Given the description of an element on the screen output the (x, y) to click on. 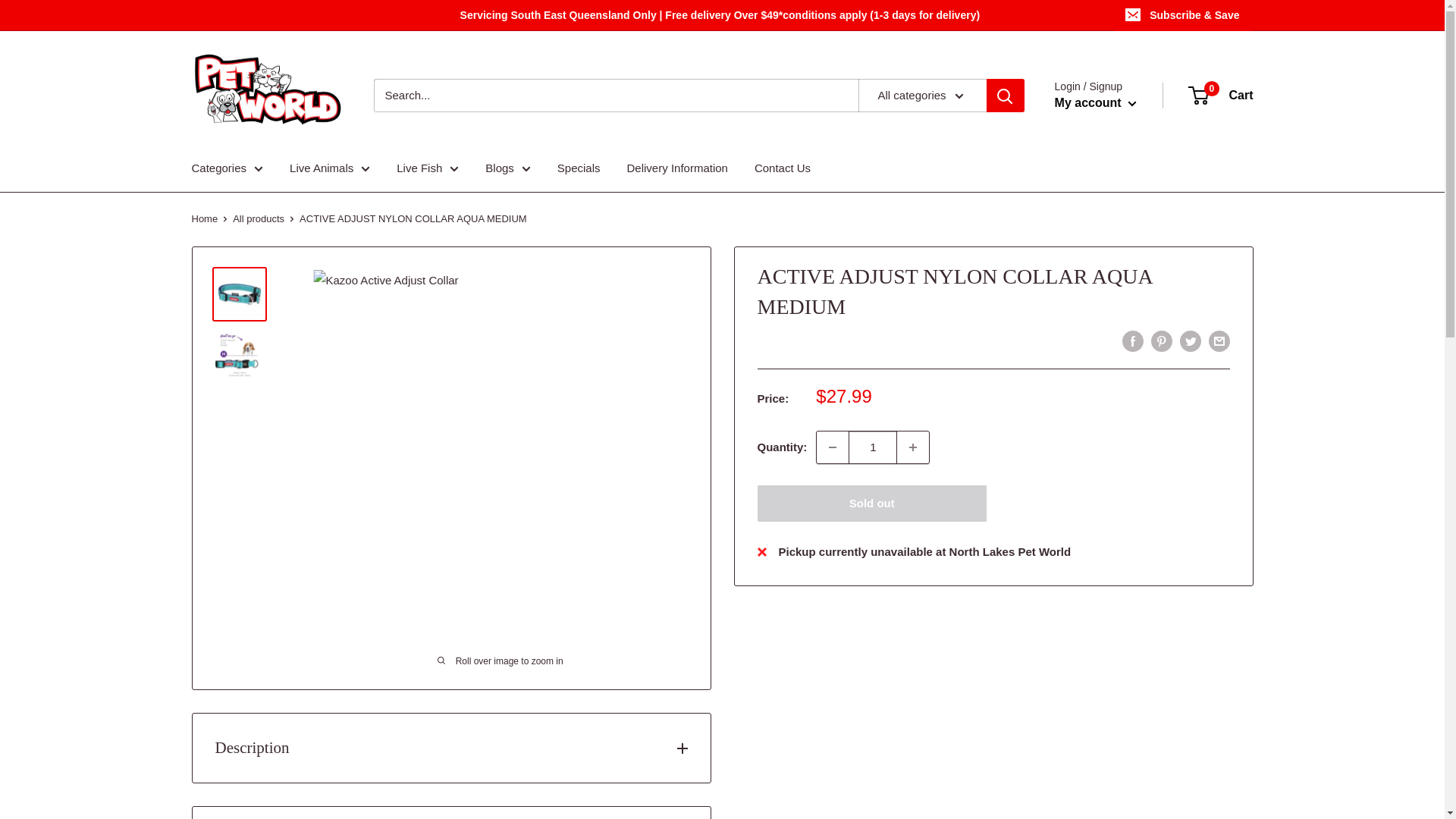
Decrease quantity by 1 (832, 447)
1 (872, 447)
Increase quantity by 1 (912, 447)
